Given the description of an element on the screen output the (x, y) to click on. 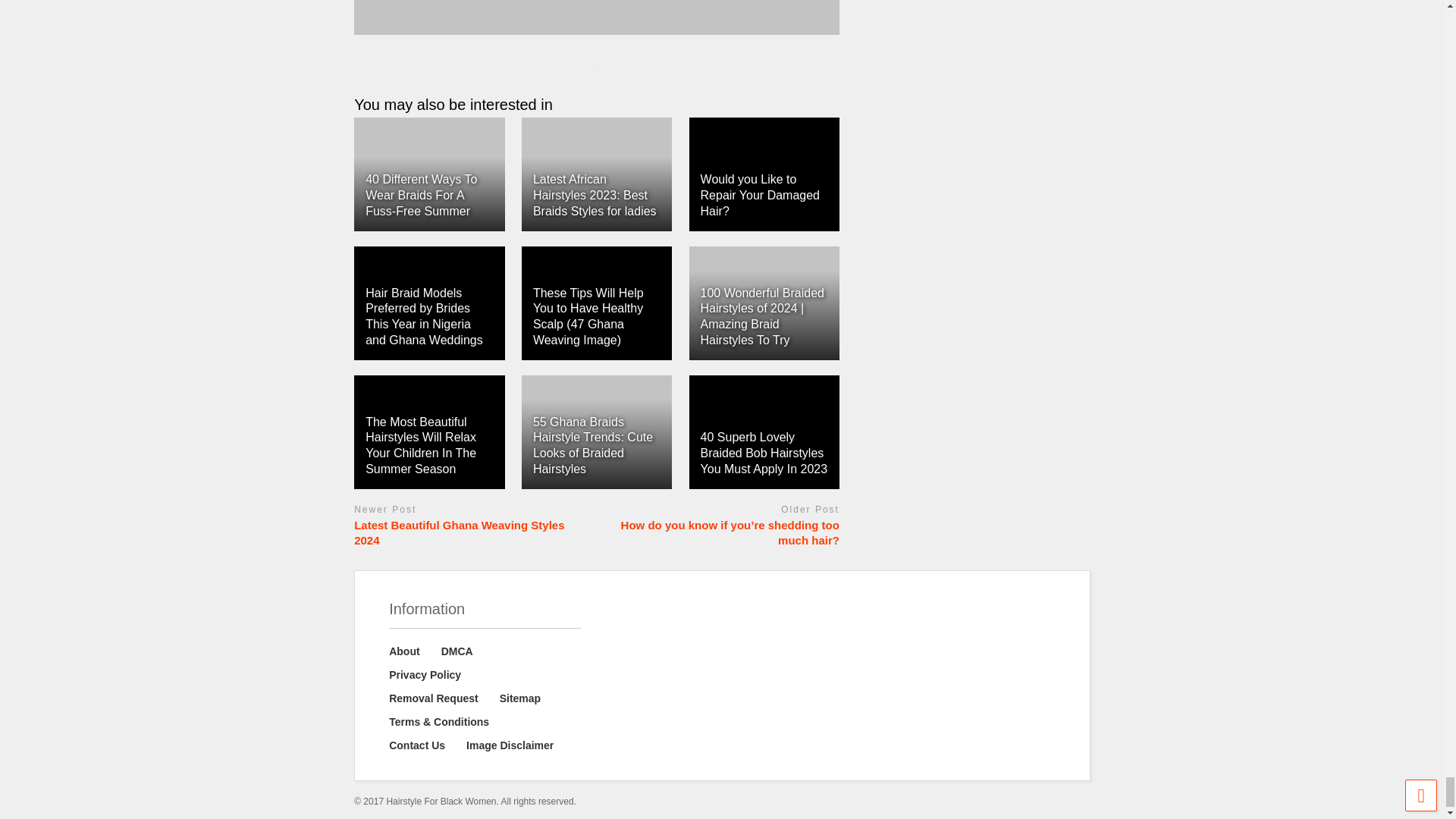
40 Different Ways To Wear Braids For A Fuss-Free Summer (421, 194)
Would you Like to Repair Your Damaged Hair? (759, 194)
40 Different Ways To Wear Braids For A Fuss-Free Summer (428, 174)
